Given the description of an element on the screen output the (x, y) to click on. 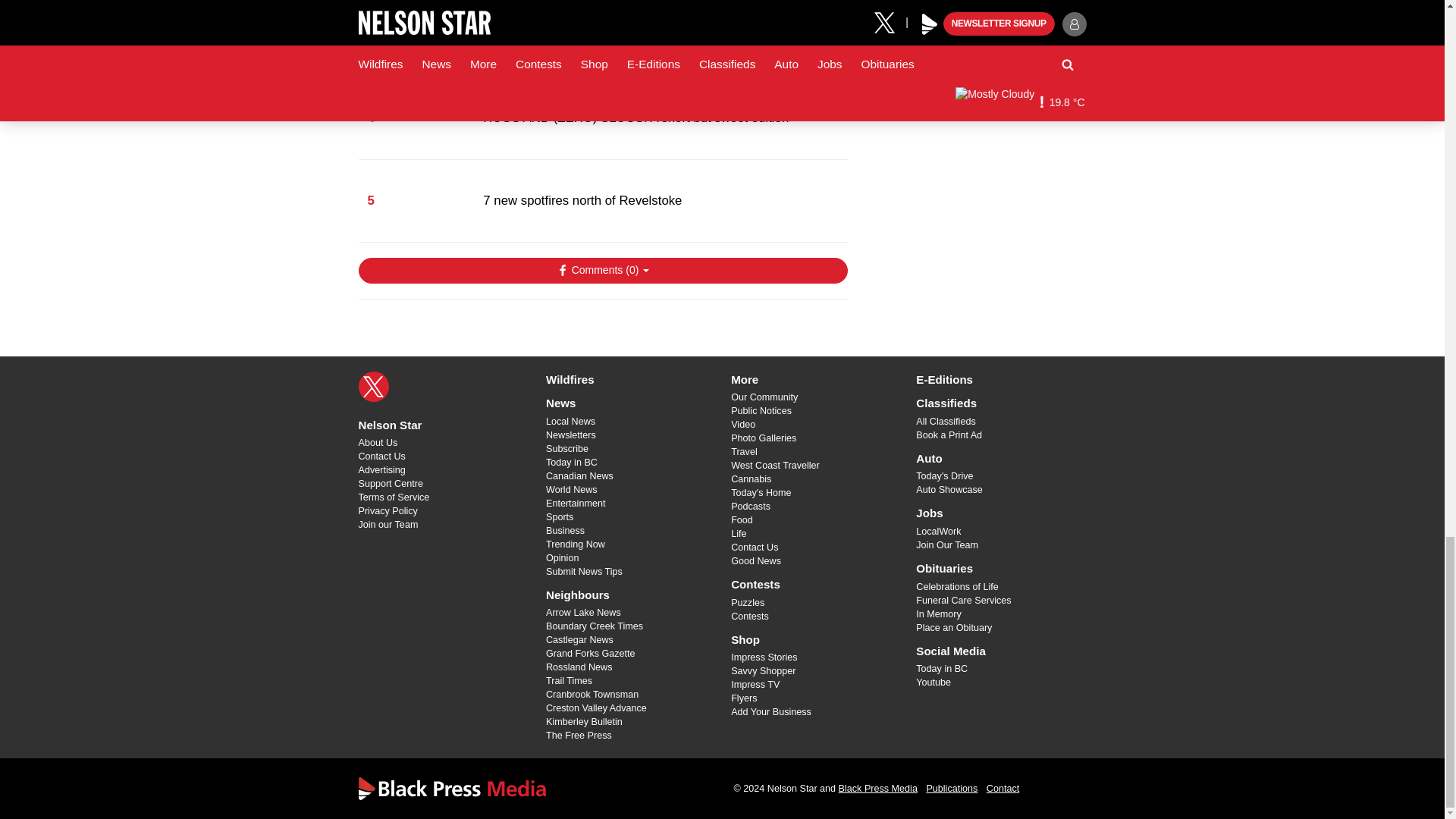
X (373, 386)
Show Comments (602, 270)
